Given the description of an element on the screen output the (x, y) to click on. 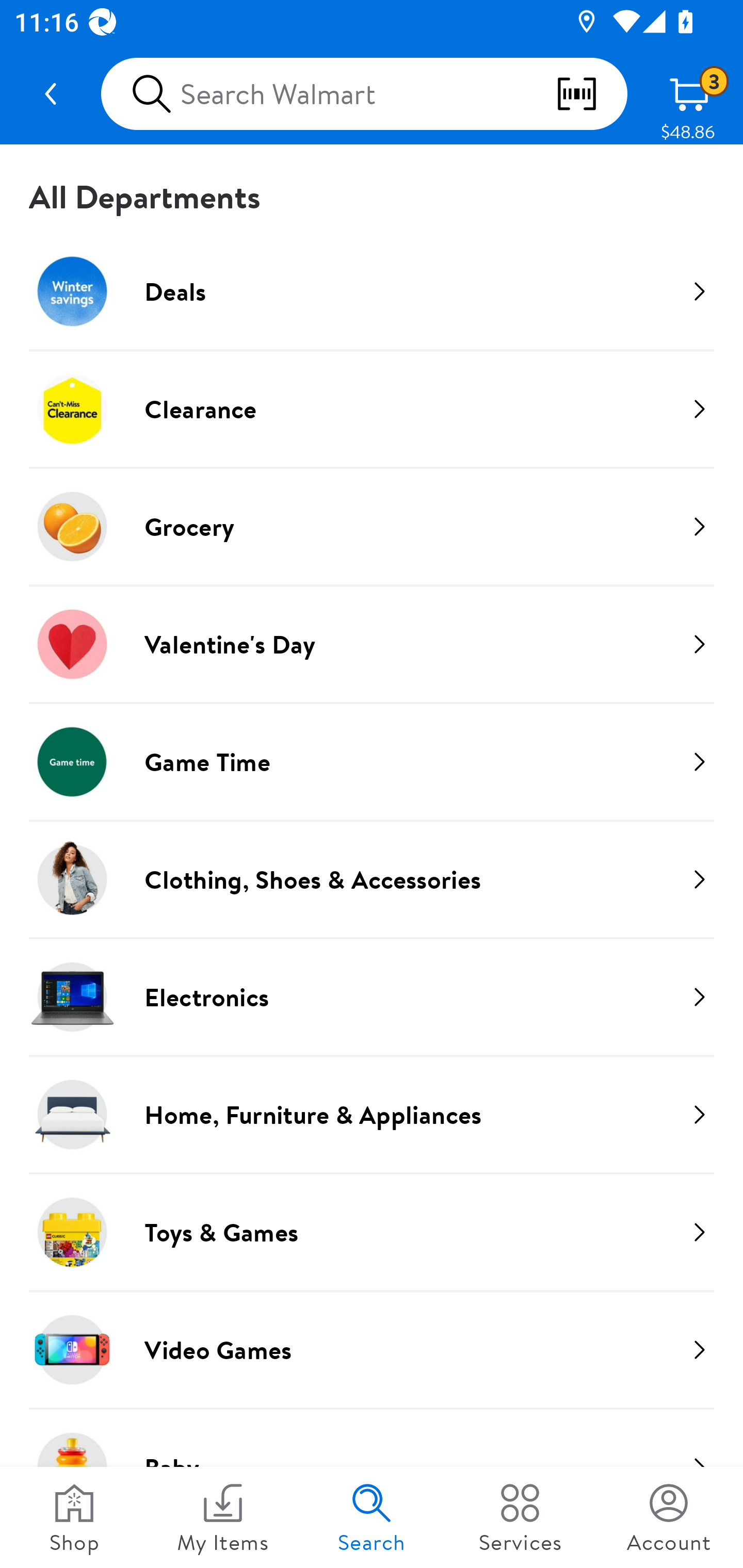
Navigate up (50, 93)
Search Walmart scan barcodes qr codes and more (364, 94)
scan barcodes qr codes and more (591, 94)
Deals (371, 291)
Clearance (371, 409)
Grocery (371, 526)
Valentine's Day (371, 644)
Game Time (371, 762)
Clothing, Shoes & Accessories (371, 879)
Electronics (371, 997)
Home, Furniture & Appliances (371, 1114)
Toys & Games (371, 1232)
Video Games (371, 1350)
Shop (74, 1517)
My Items (222, 1517)
Services (519, 1517)
Account (668, 1517)
